Given the description of an element on the screen output the (x, y) to click on. 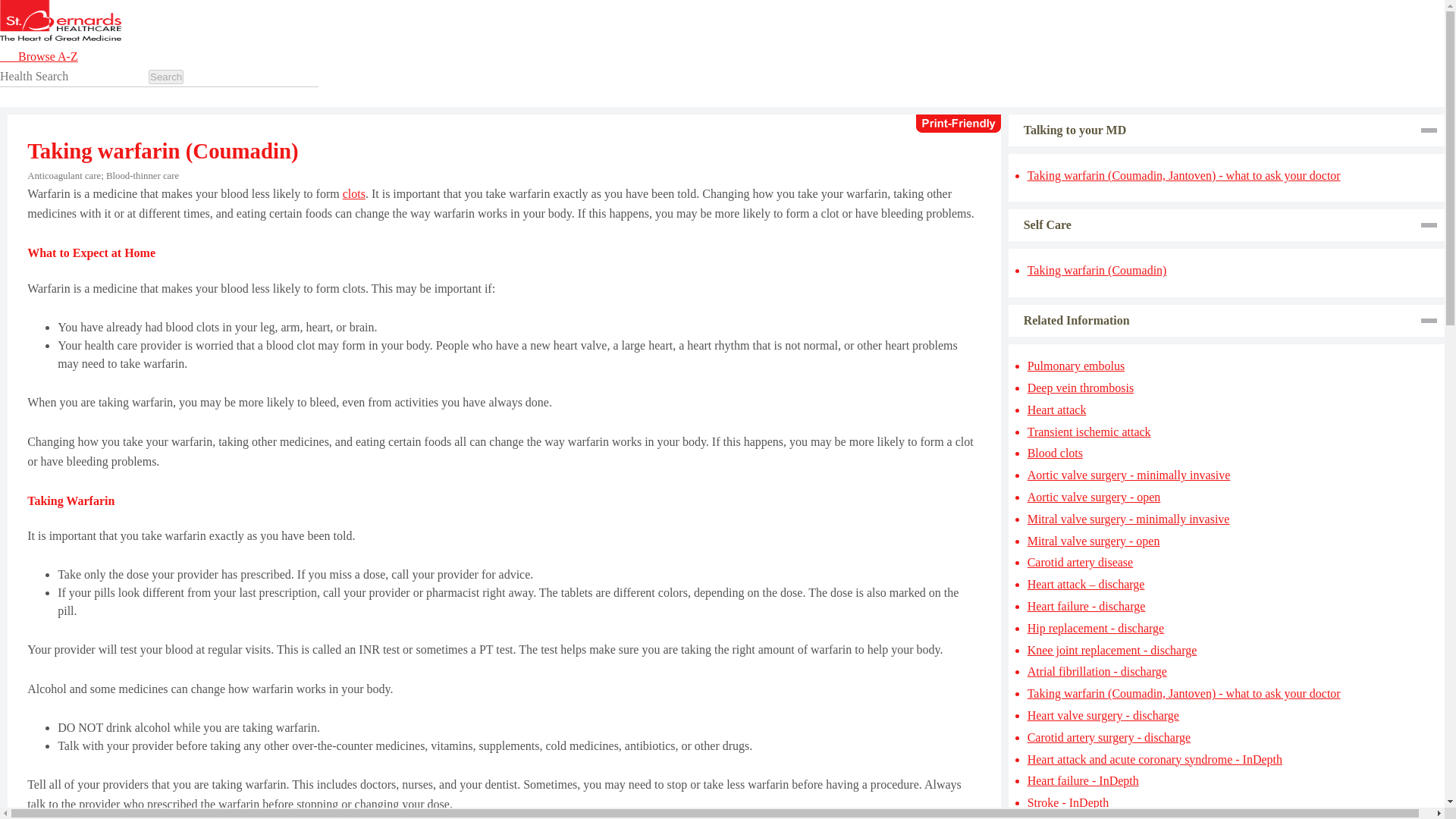
Browse A-Z (47, 56)
Health Search (72, 76)
Print-Friendly (958, 123)
Search (165, 76)
SmartEngage 3.0 (60, 36)
clots (353, 193)
